Given the description of an element on the screen output the (x, y) to click on. 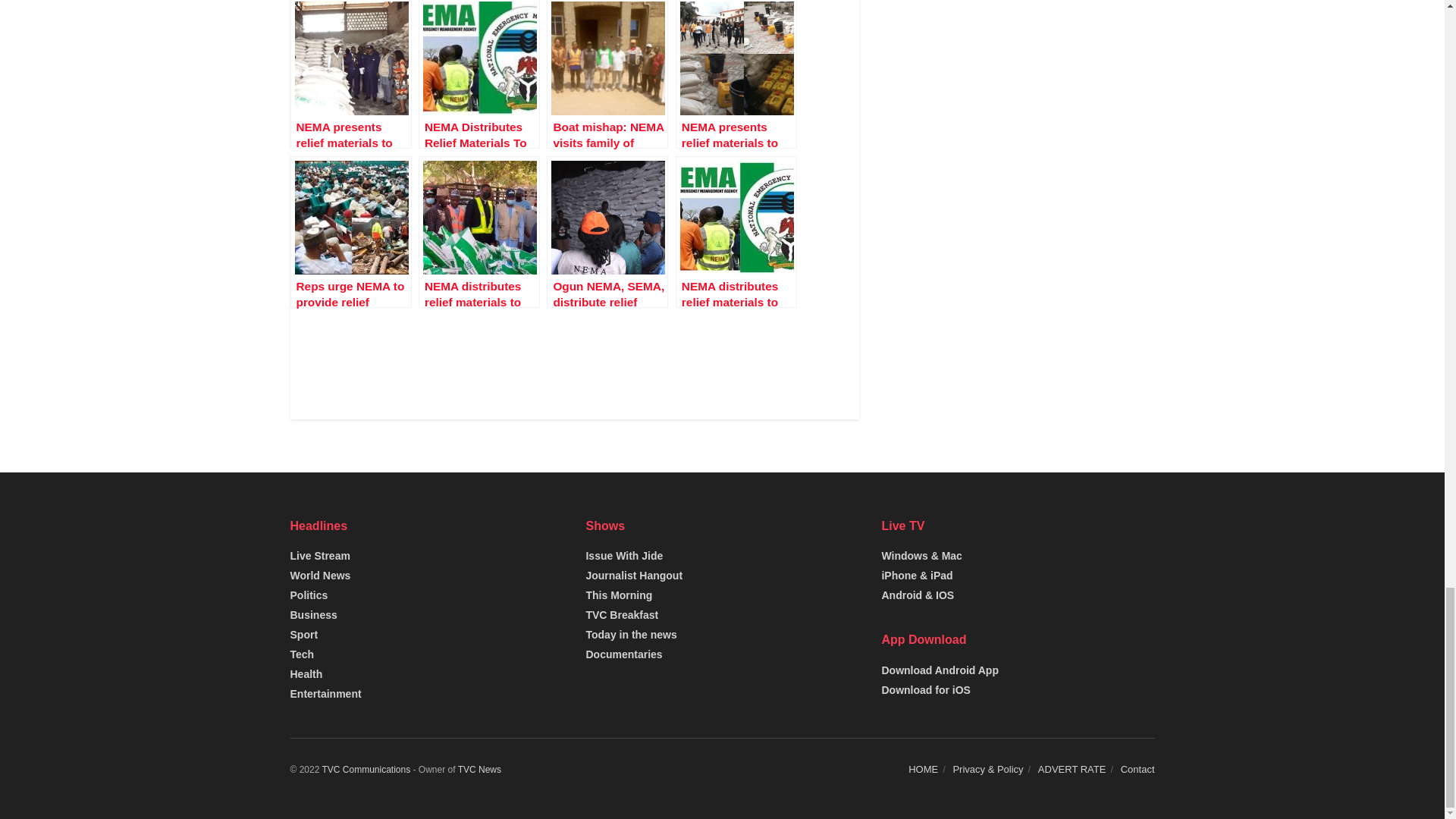
TVC News (479, 769)
